Given the description of an element on the screen output the (x, y) to click on. 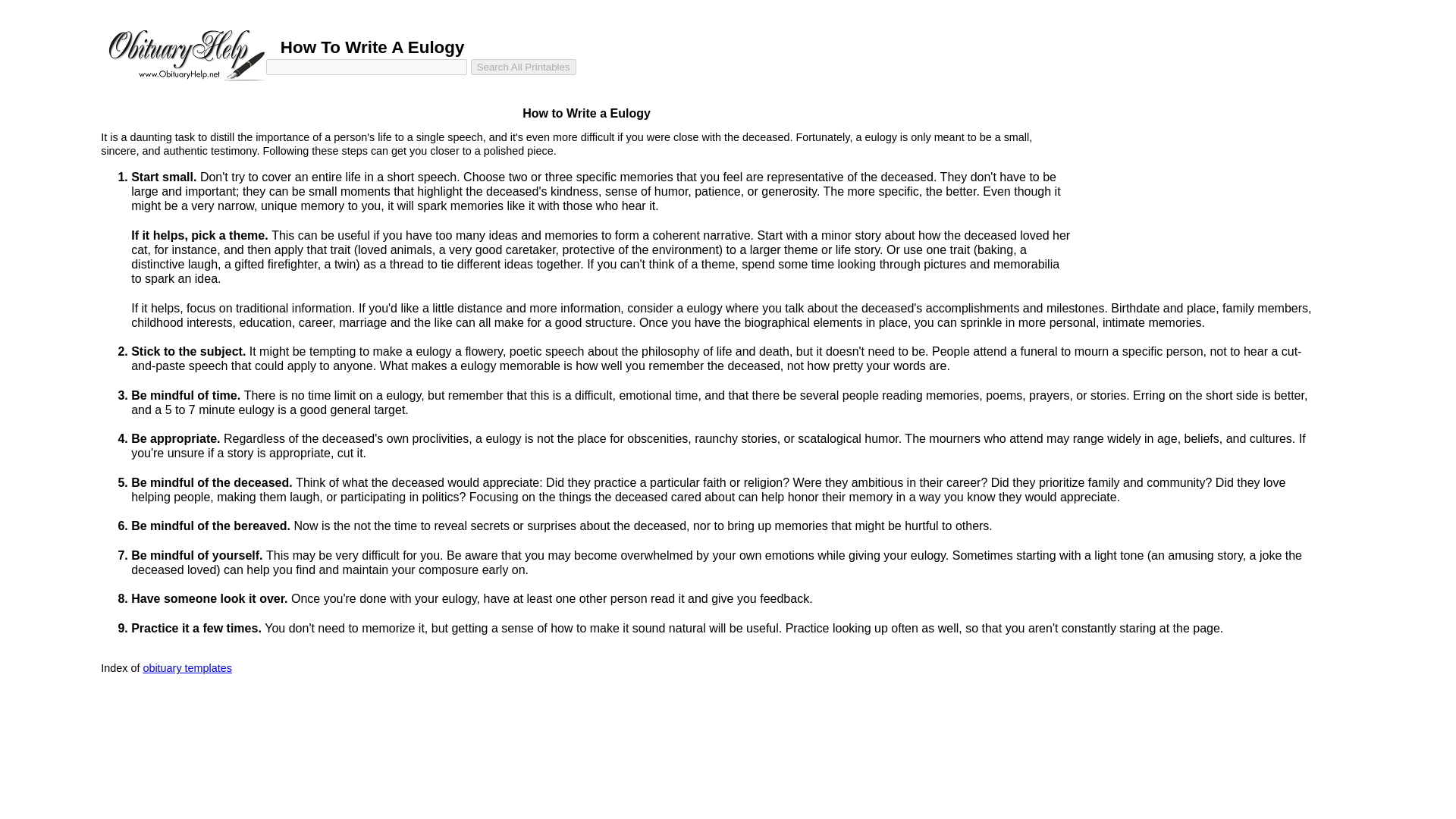
Search All Printables (523, 66)
Search All Printables (523, 66)
obituary templates (186, 667)
